Given the description of an element on the screen output the (x, y) to click on. 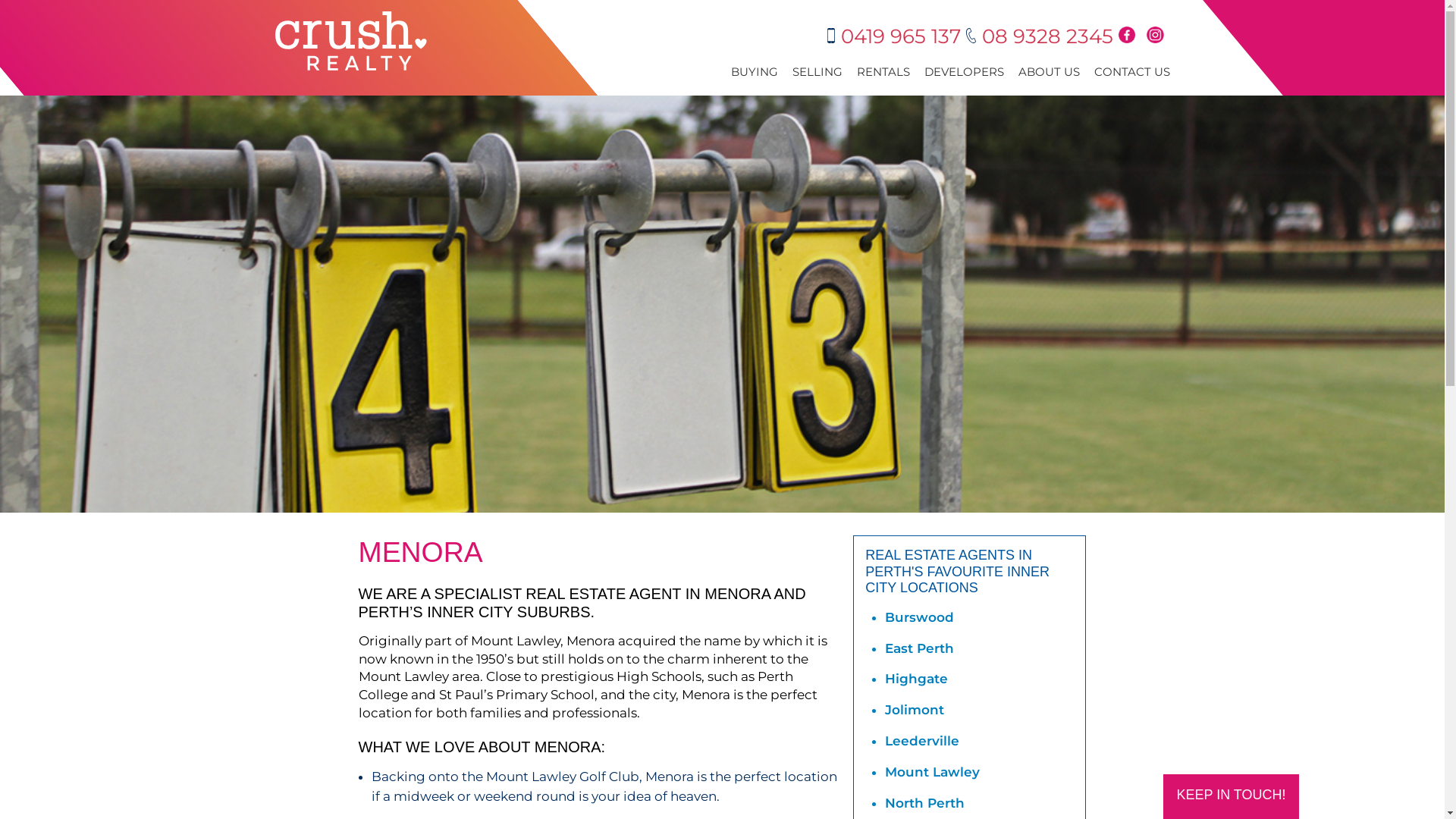
ABOUT US Element type: text (1048, 73)
Leederville Element type: text (921, 740)
RENTALS Element type: text (883, 73)
Mount Lawley Element type: text (931, 771)
Highgate Element type: text (915, 678)
Jolimont Element type: text (914, 709)
08 9328 2345 Element type: text (1042, 36)
BUYING Element type: text (754, 73)
CONTACT US Element type: text (1131, 73)
North Perth Element type: text (924, 802)
Burswood Element type: text (918, 616)
East Perth Element type: text (918, 647)
DEVELOPERS Element type: text (963, 73)
0419 965 137 Element type: text (896, 36)
SELLING Element type: text (816, 73)
